Given the description of an element on the screen output the (x, y) to click on. 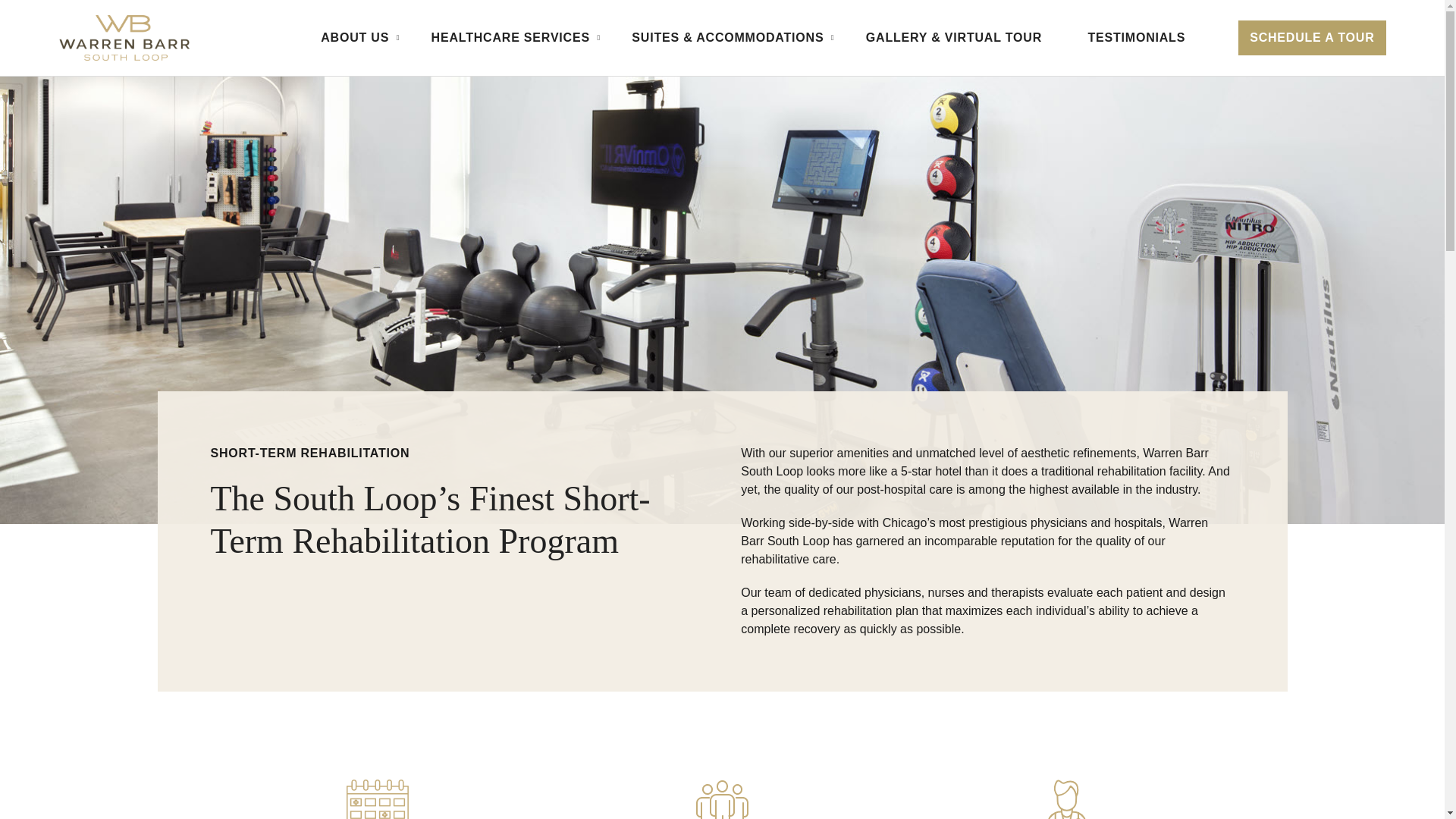
SCHEDULE A TOUR (1312, 37)
HEALTHCARE SERVICES (508, 37)
ABOUT US (352, 37)
TESTIMONIALS (1135, 37)
Warren Barr - South Loop (124, 38)
